Given the description of an element on the screen output the (x, y) to click on. 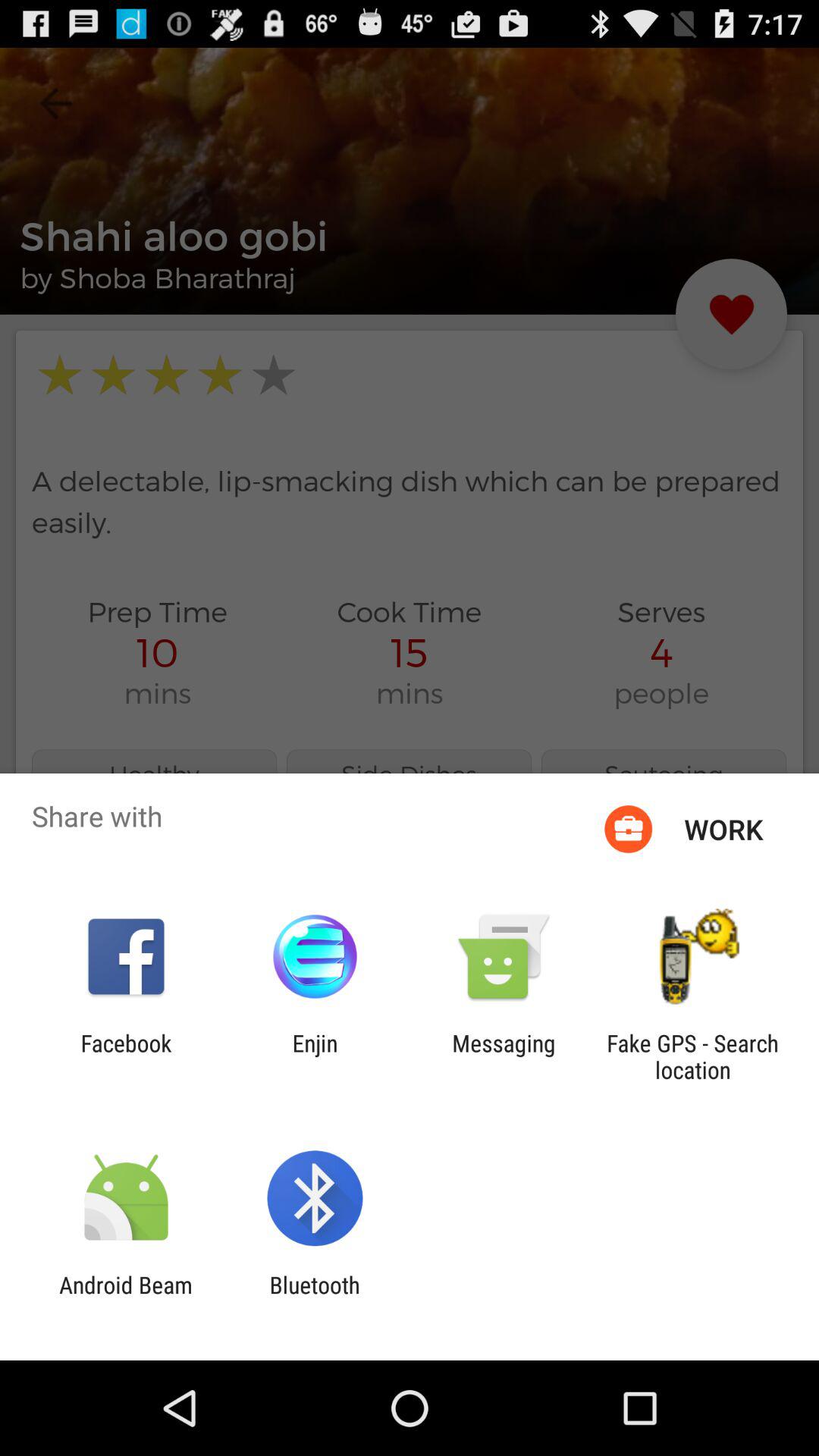
launch item to the left of the bluetooth item (125, 1298)
